Given the description of an element on the screen output the (x, y) to click on. 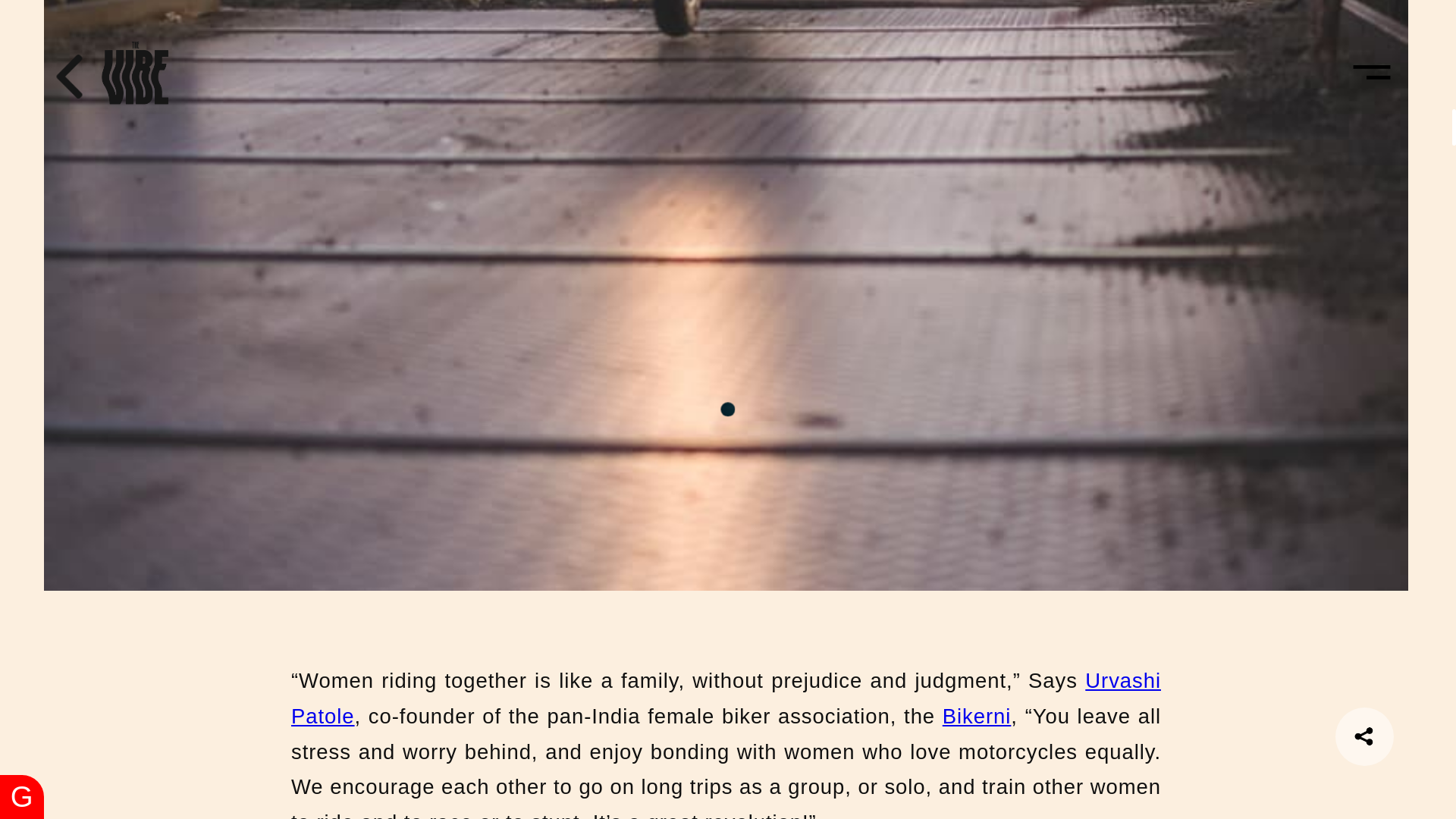
Urvashi Patole (725, 698)
Bikerni (976, 716)
